Given the description of an element on the screen output the (x, y) to click on. 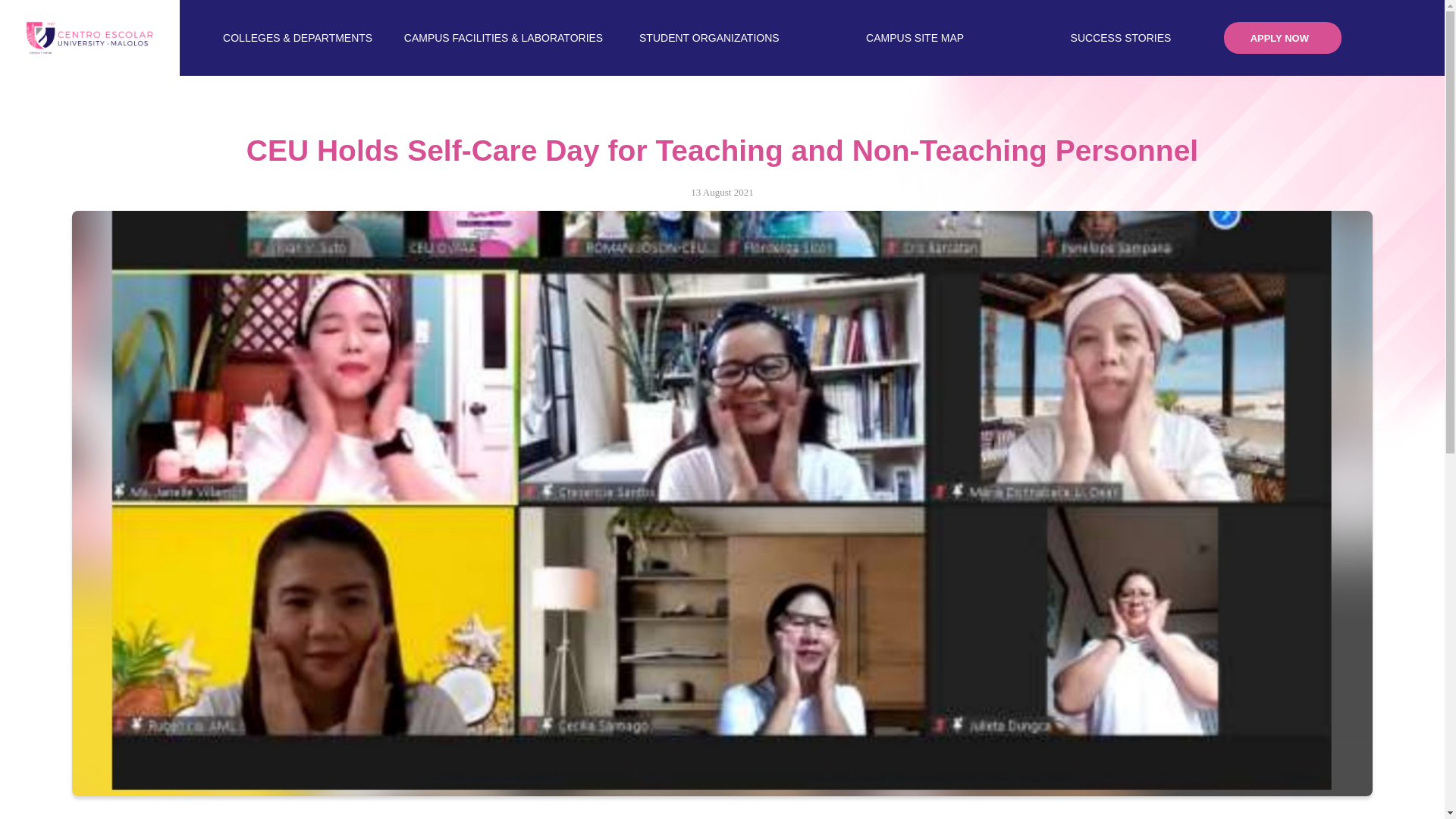
CAMPUS SITE MAP (914, 37)
STUDENT ORGANIZATIONS (709, 37)
APPLY NOW (1282, 38)
